Given the description of an element on the screen output the (x, y) to click on. 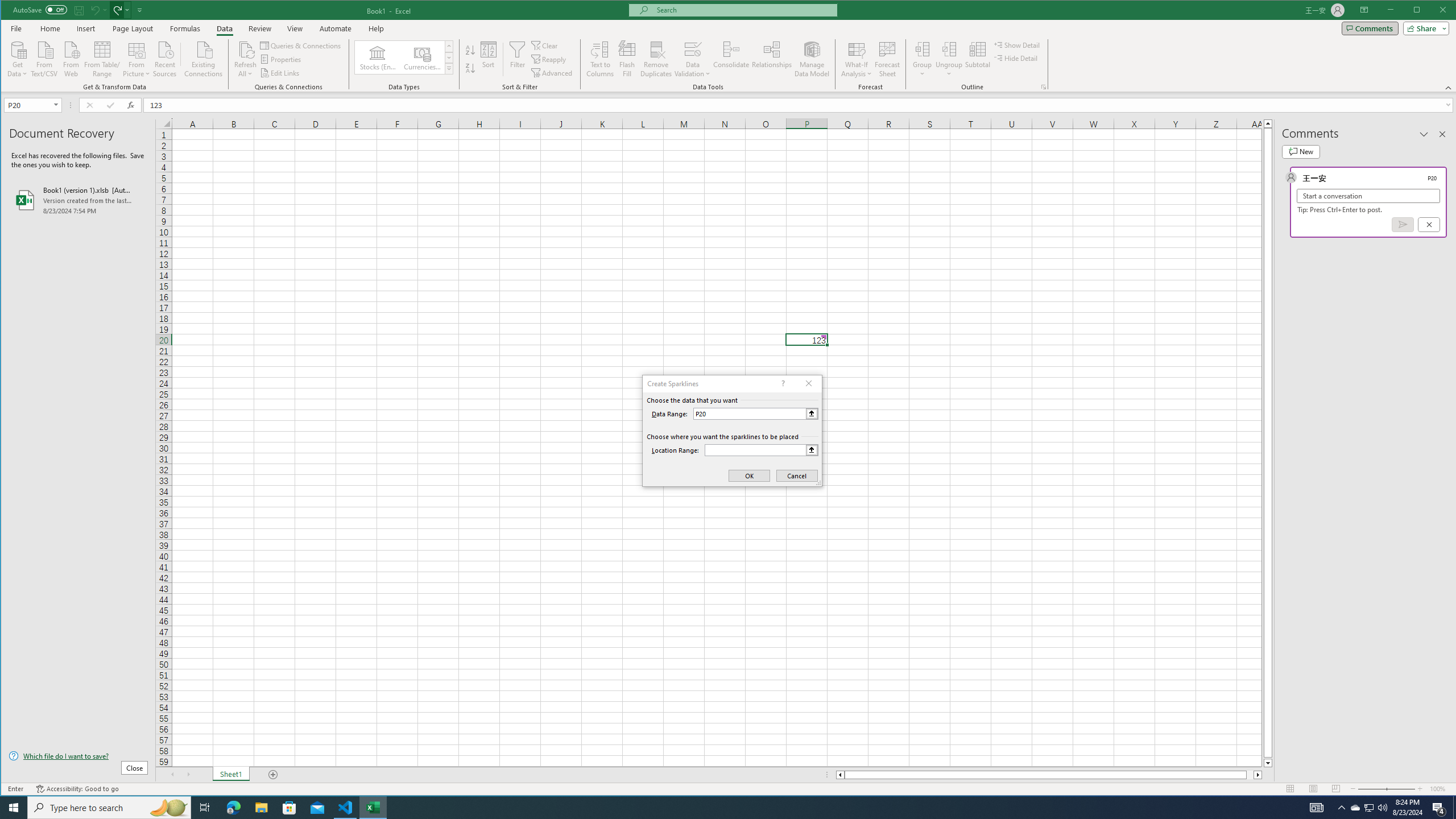
Group... (922, 48)
Remove Duplicates (655, 59)
Which file do I want to save? (78, 755)
Class: MsoCommandBar (728, 45)
Edit Links (279, 72)
From Text/CSV (44, 57)
